Given the description of an element on the screen output the (x, y) to click on. 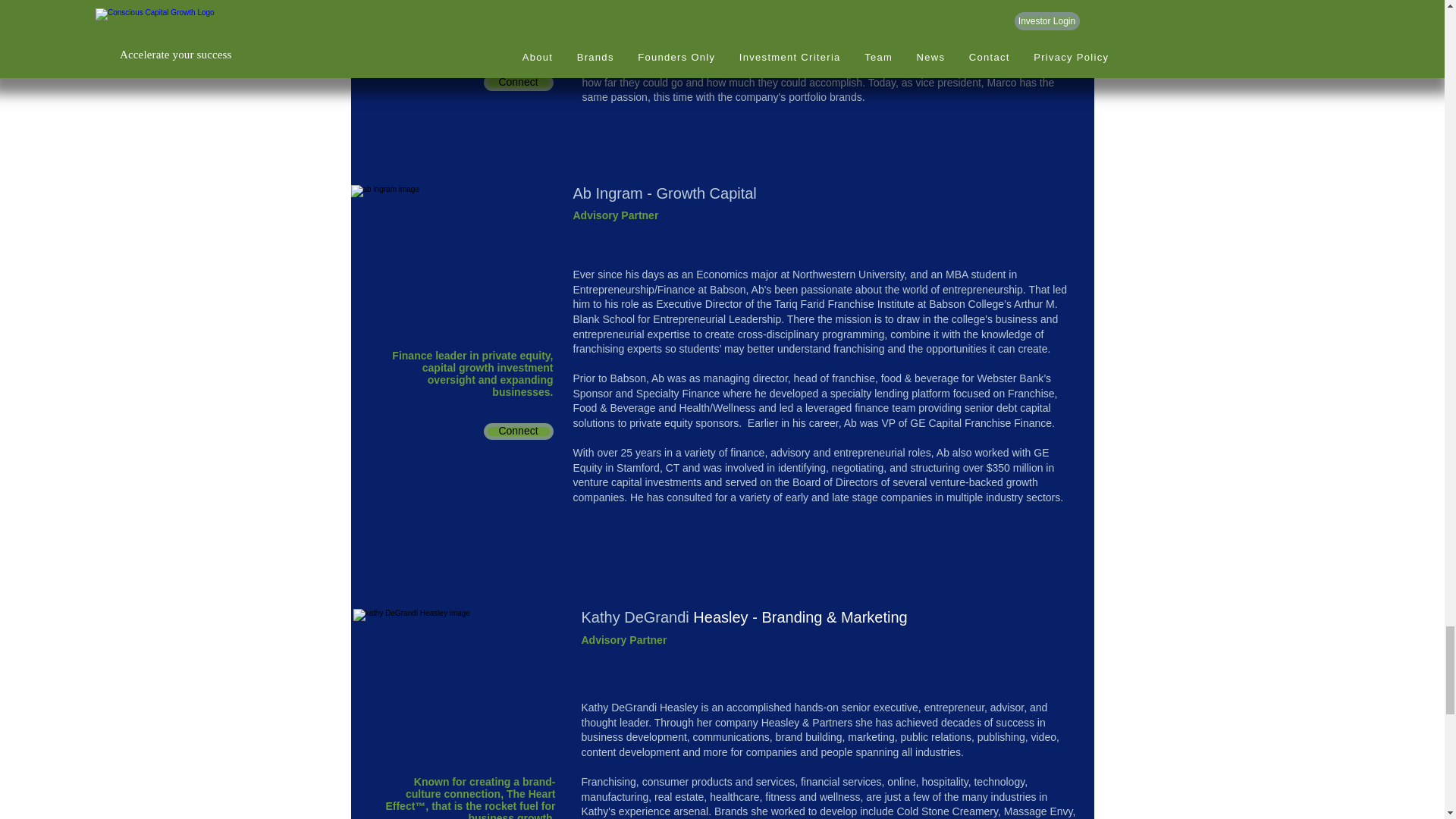
Connect (518, 431)
Tariq Farid Franchise Institute (844, 304)
Connect (518, 82)
